Given the description of an element on the screen output the (x, y) to click on. 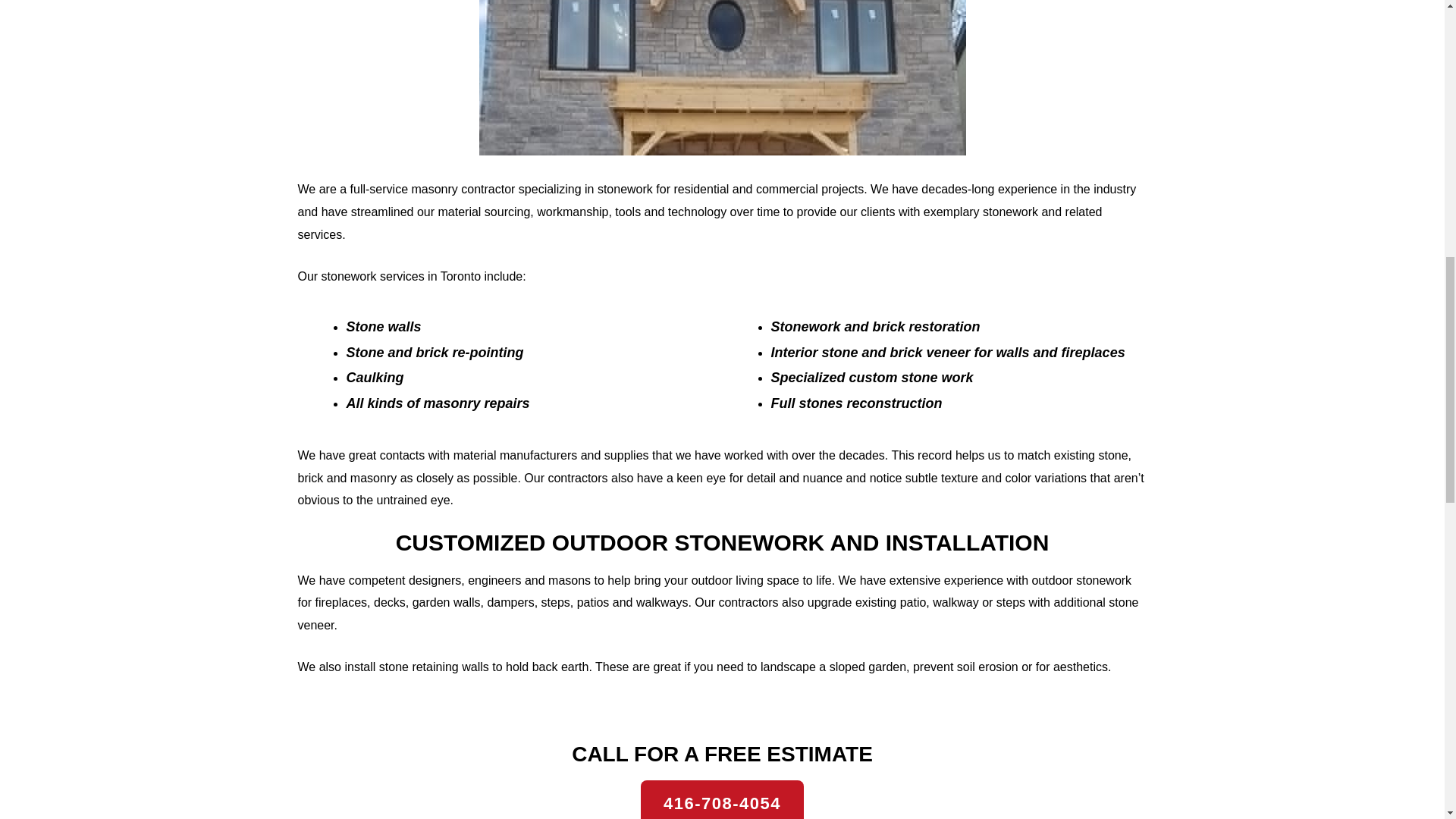
416-708-4054 (721, 799)
